Given the description of an element on the screen output the (x, y) to click on. 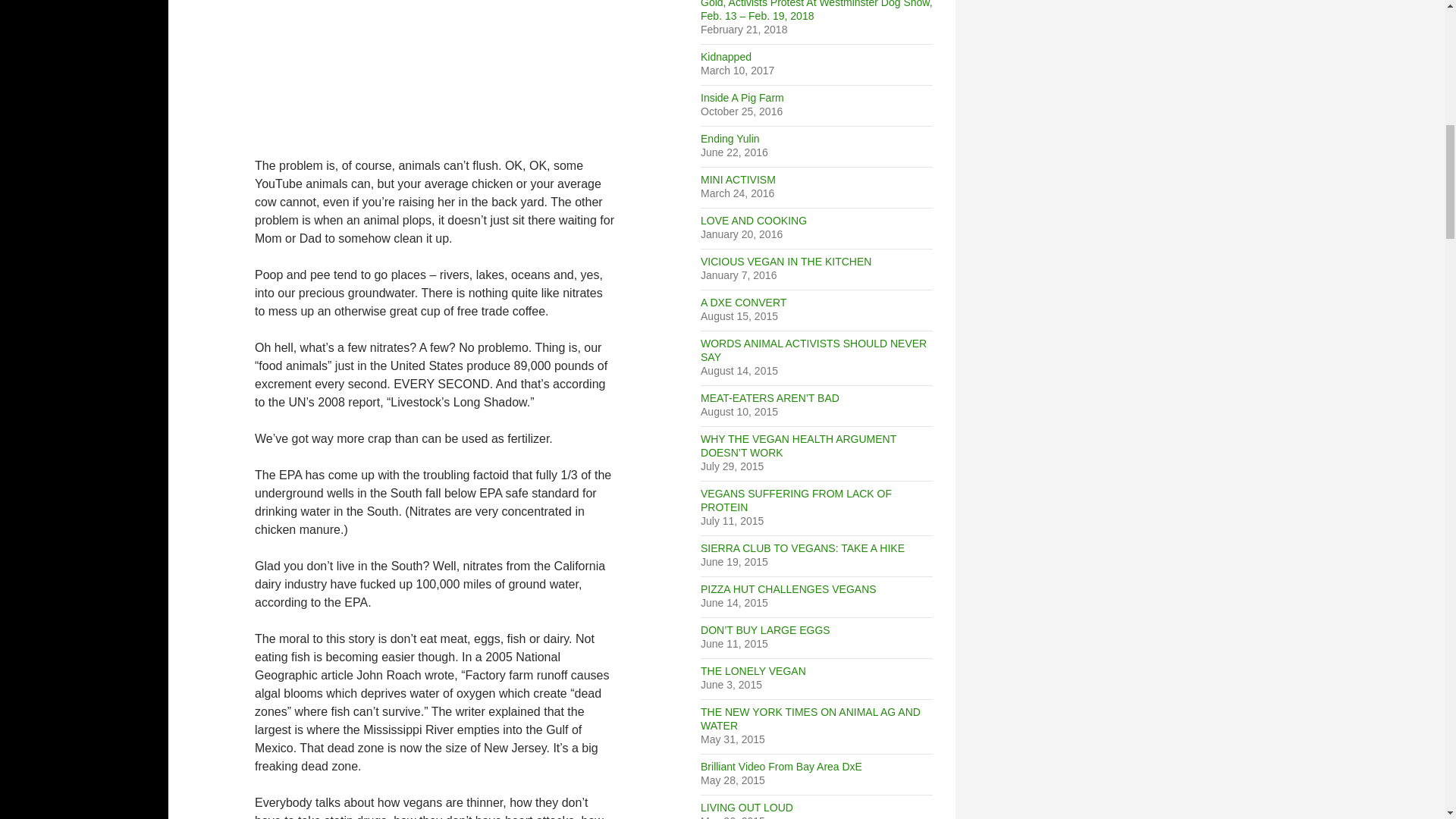
Ending Yulin (730, 138)
LOVE AND COOKING (753, 220)
MINI ACTIVISM (738, 179)
Kidnapped (725, 56)
Inside A Pig Farm (742, 97)
